Given the description of an element on the screen output the (x, y) to click on. 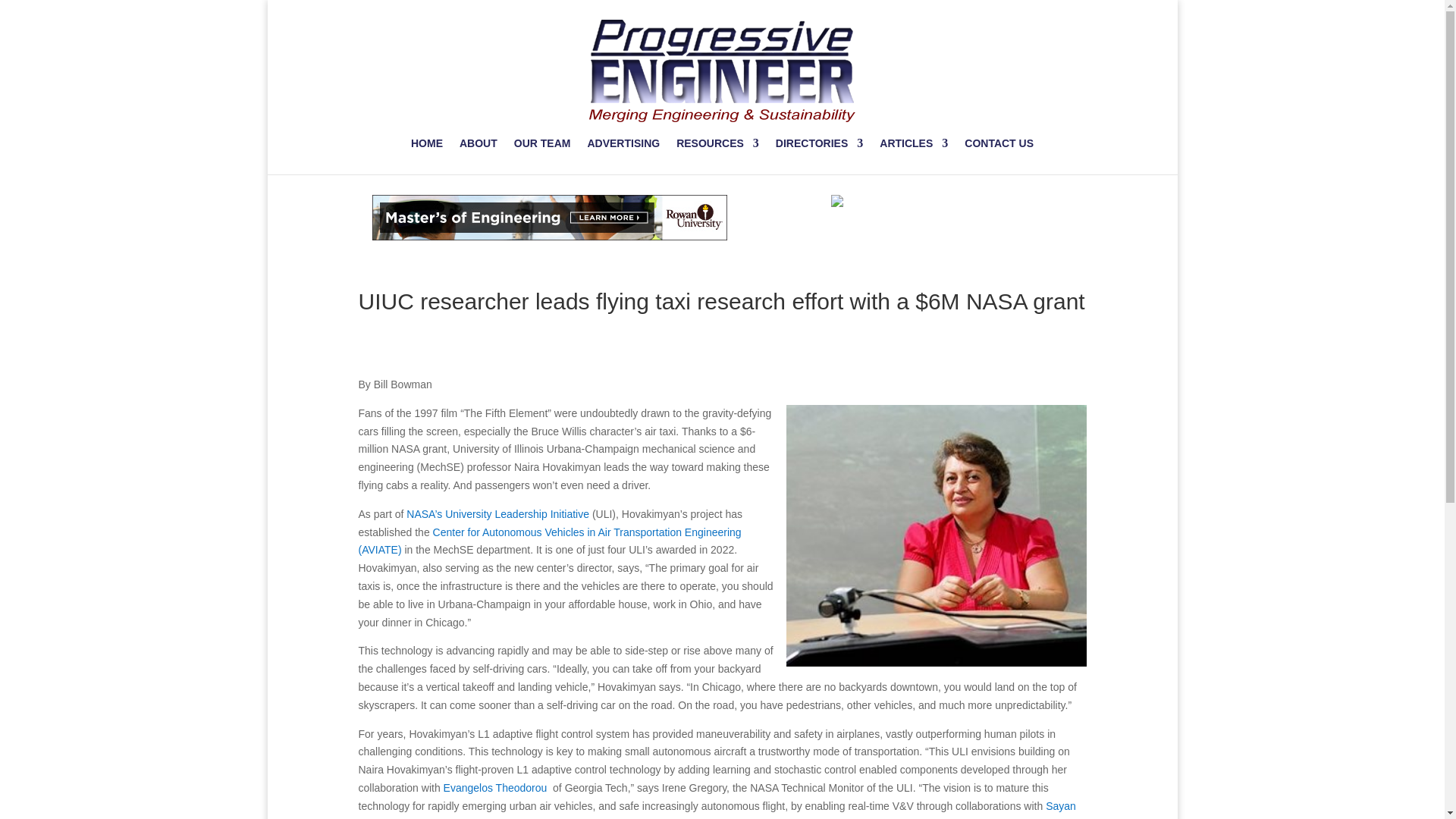
ABOUT (478, 146)
DIRECTORIES (819, 146)
Chuchu Fan (477, 818)
ARTICLES (913, 146)
CONTACT US (998, 146)
OUR TEAM (541, 146)
ADVERTISING (622, 146)
HOME (426, 146)
Sayan Mitra (716, 809)
Evangelos Theodorou (495, 787)
Progressive Engineer (722, 70)
RESOURCES (717, 146)
